Given the description of an element on the screen output the (x, y) to click on. 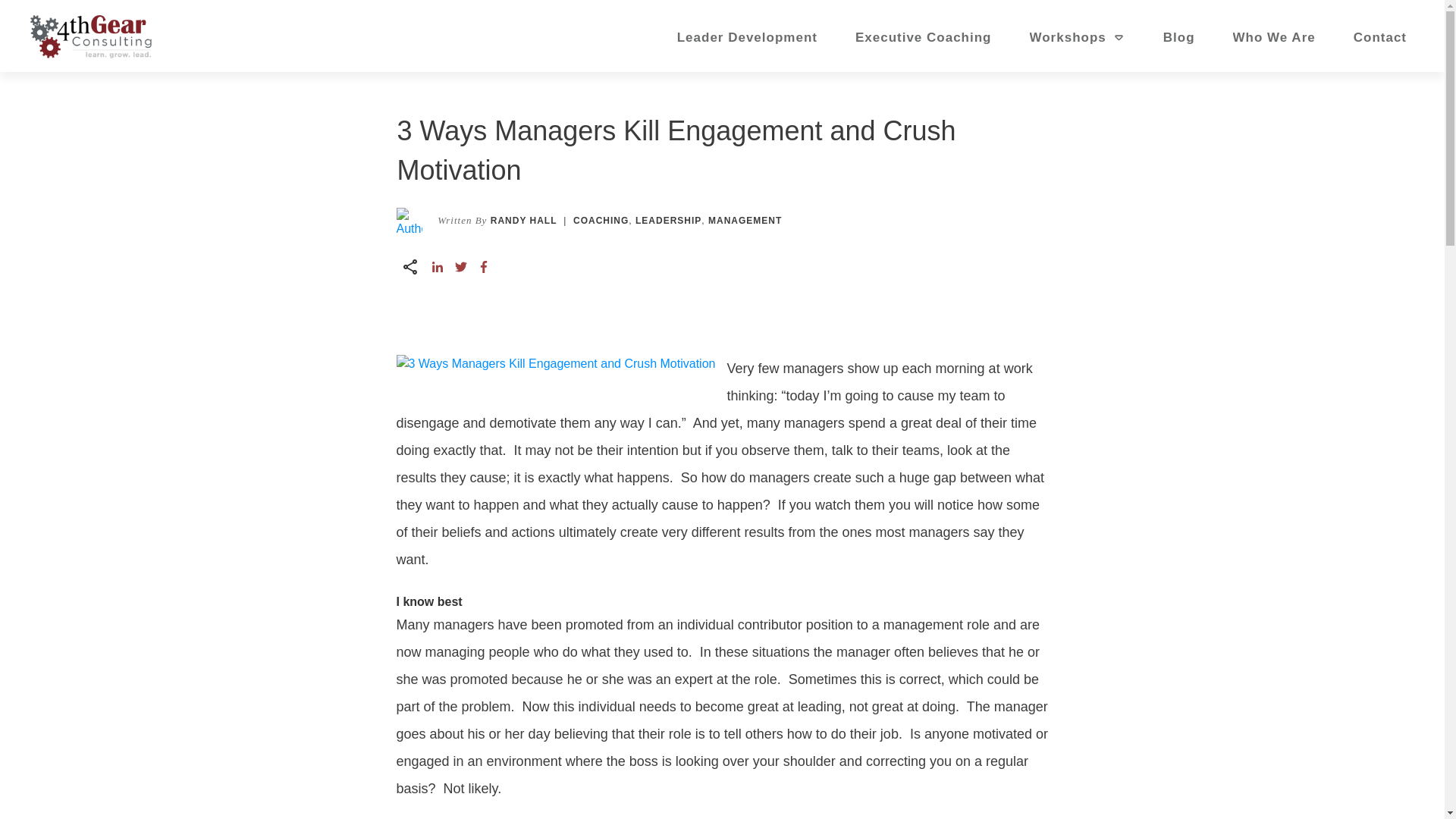
Executive Coaching (923, 37)
Management (744, 220)
Leadership (667, 220)
LEADERSHIP (667, 220)
COACHING (600, 220)
Randy Hall (523, 220)
Contact (1380, 37)
RANDY HALL (523, 220)
undefined (409, 220)
Coaching (600, 220)
Leader Development (746, 37)
Blog (1179, 37)
Workshops (1077, 37)
MANAGEMENT (744, 220)
Who We Are (1274, 37)
